Given the description of an element on the screen output the (x, y) to click on. 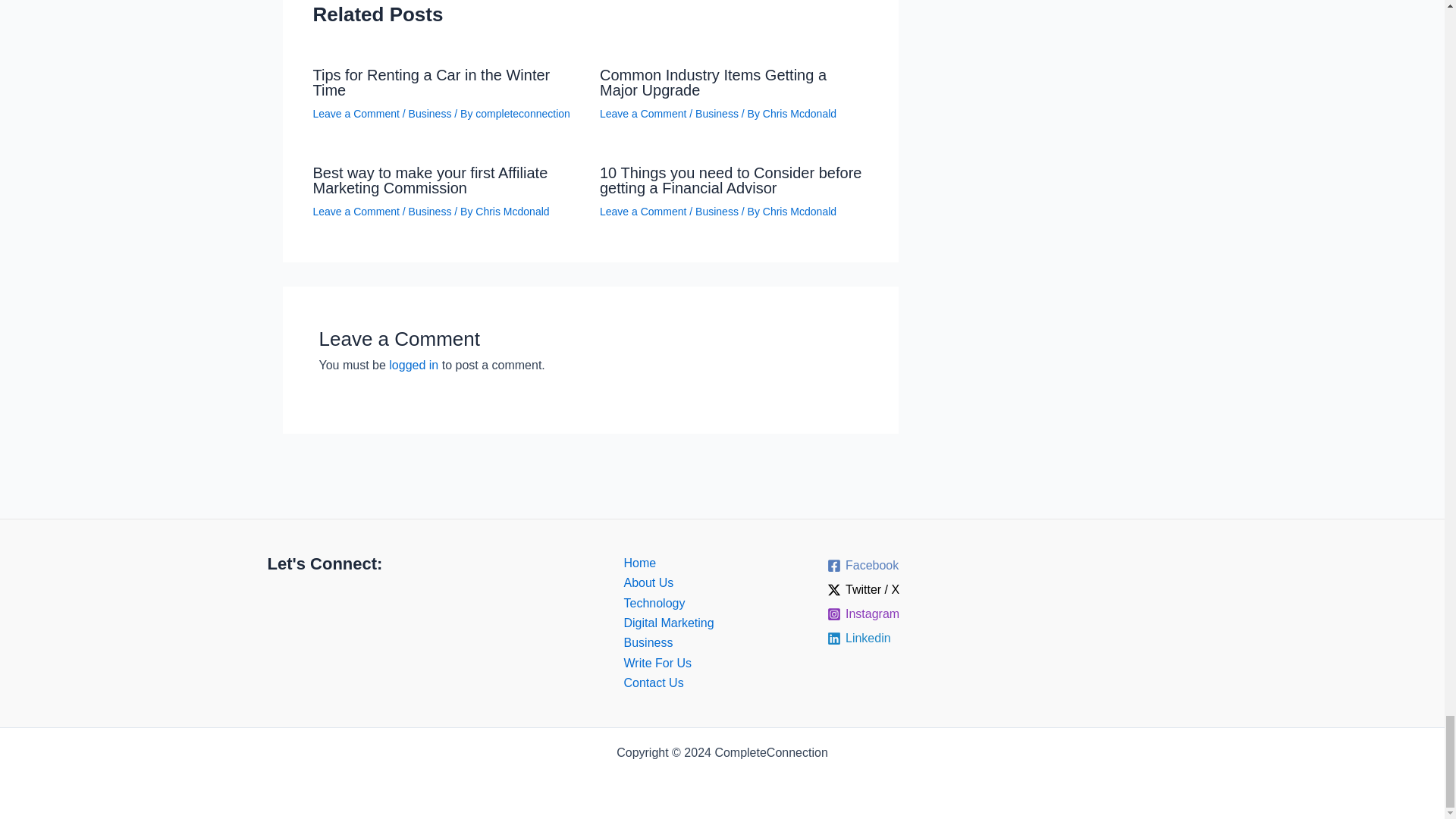
View all posts by Chris Mcdonald (512, 211)
View all posts by Chris Mcdonald (798, 211)
View all posts by Chris Mcdonald (798, 113)
View all posts by completeconnection (523, 113)
